Given the description of an element on the screen output the (x, y) to click on. 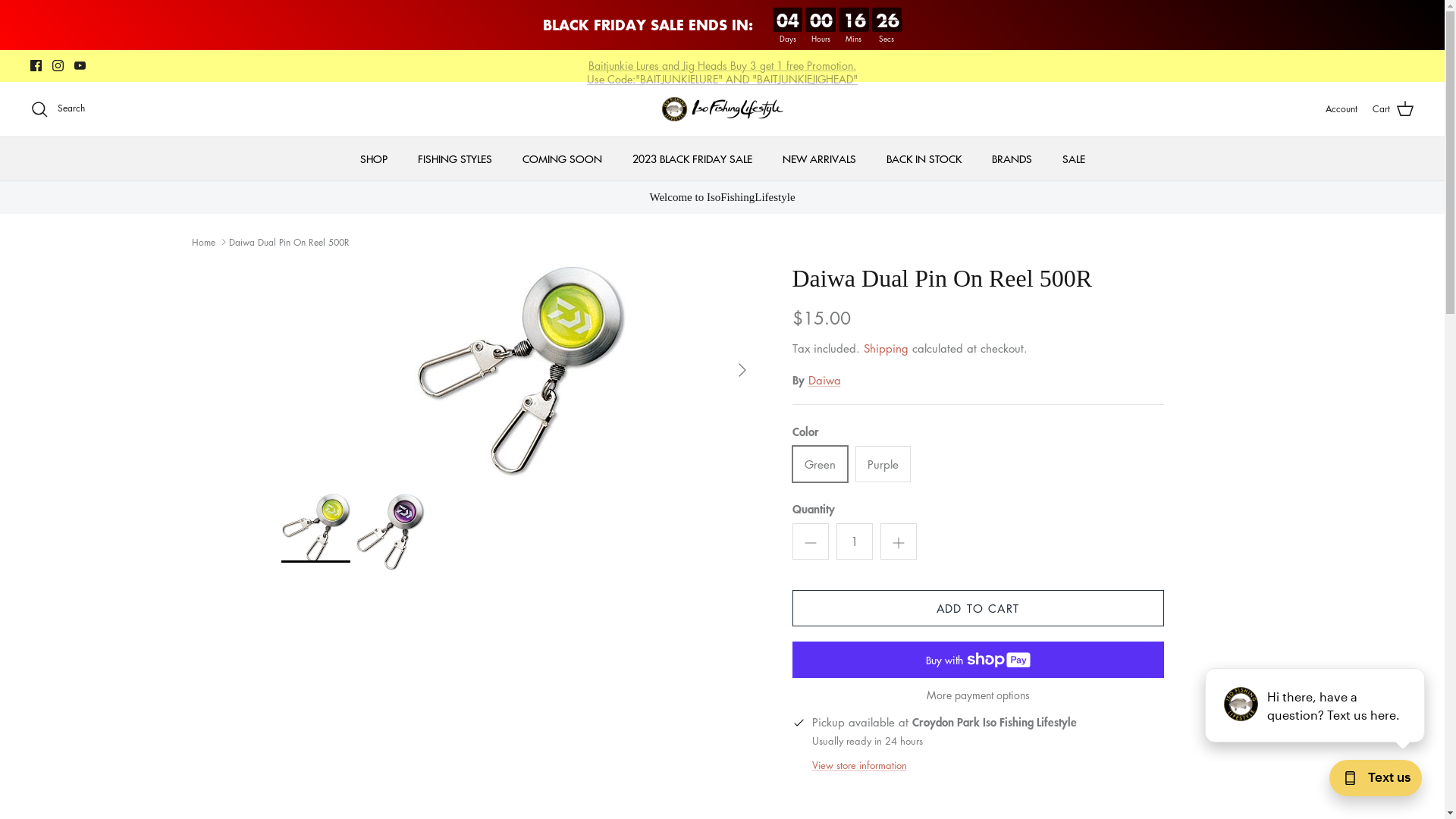
ADD TO CART Element type: text (977, 620)
SALE Element type: text (1073, 158)
Search Element type: text (57, 109)
Isofishinglifestyle Element type: hover (721, 109)
Facebook Element type: text (35, 65)
podium webchat widget prompt Element type: hover (1315, 705)
Daiwa Dual Pin On Reel 500R Element type: text (289, 253)
2023 BLACK FRIDAY SALE Element type: text (691, 170)
View store information Element type: text (858, 776)
Plus Element type: text (897, 554)
Welcome to IsoFishingLifestyle Element type: text (721, 209)
COMING SOON Element type: text (561, 170)
More payment options Element type: text (977, 707)
Free Shipping Over $160* Element type: text (721, 65)
Daiwa Element type: text (824, 392)
NEW ARRIVALS Element type: text (818, 170)
Minus Element type: text (809, 554)
Shipping Element type: text (884, 359)
Cart Element type: text (1393, 109)
Home Element type: text (202, 253)
RIGHT Element type: text (741, 382)
Youtube Element type: text (79, 65)
SHOP Element type: text (372, 170)
BACK IN STOCK Element type: text (923, 170)
Account Element type: text (1341, 108)
Instagram Element type: text (57, 65)
BRANDS Element type: text (1011, 170)
FISHING STYLES Element type: text (454, 170)
